Given the description of an element on the screen output the (x, y) to click on. 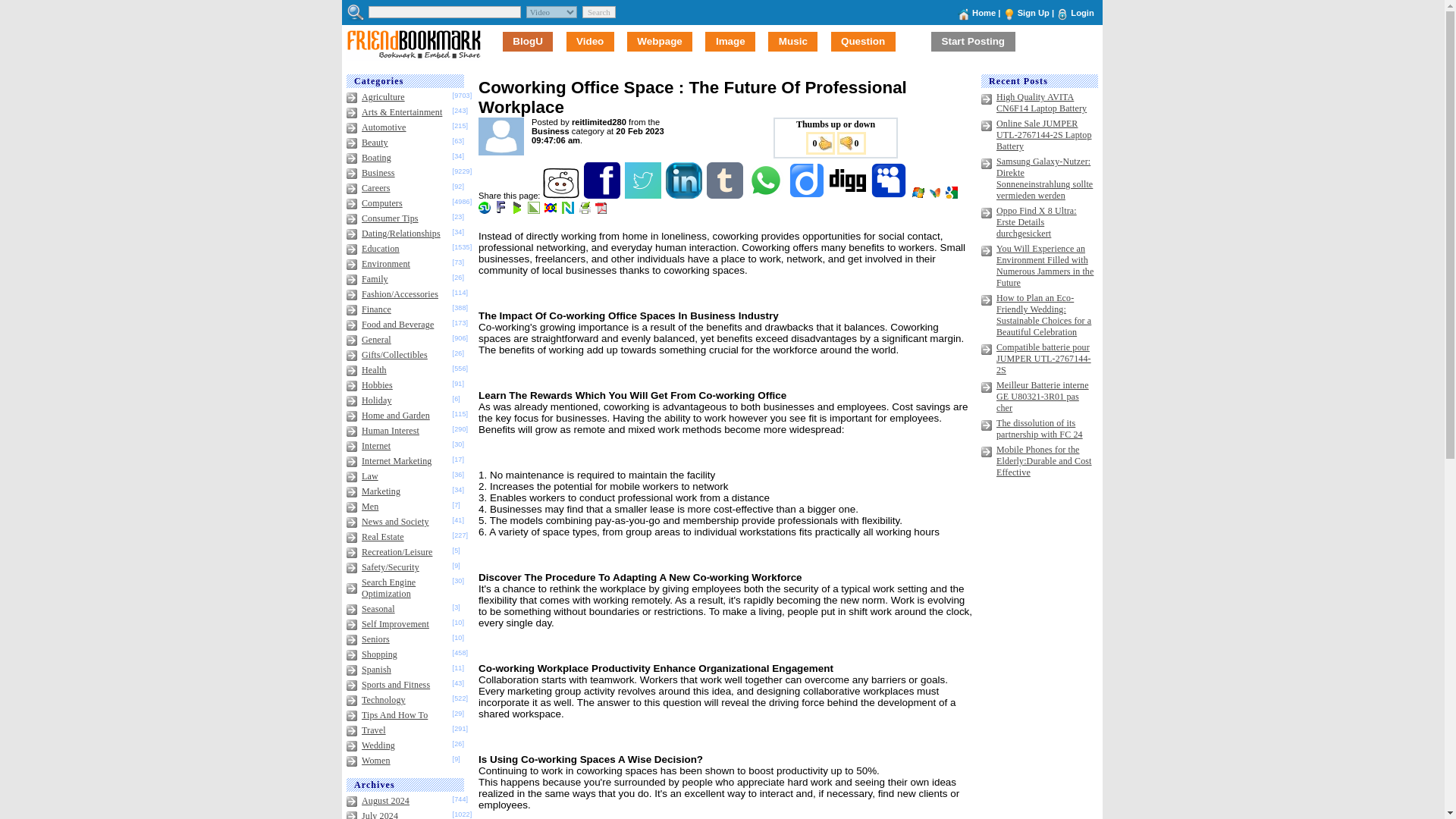
MySpace (889, 194)
blogmarks (518, 210)
Sign Up (1033, 12)
LinkaGoGo (551, 210)
LinkedIn (684, 194)
Google (951, 194)
MSNReporter (935, 194)
Live (919, 194)
Facebook (603, 194)
Thumbs up (819, 142)
